Given the description of an element on the screen output the (x, y) to click on. 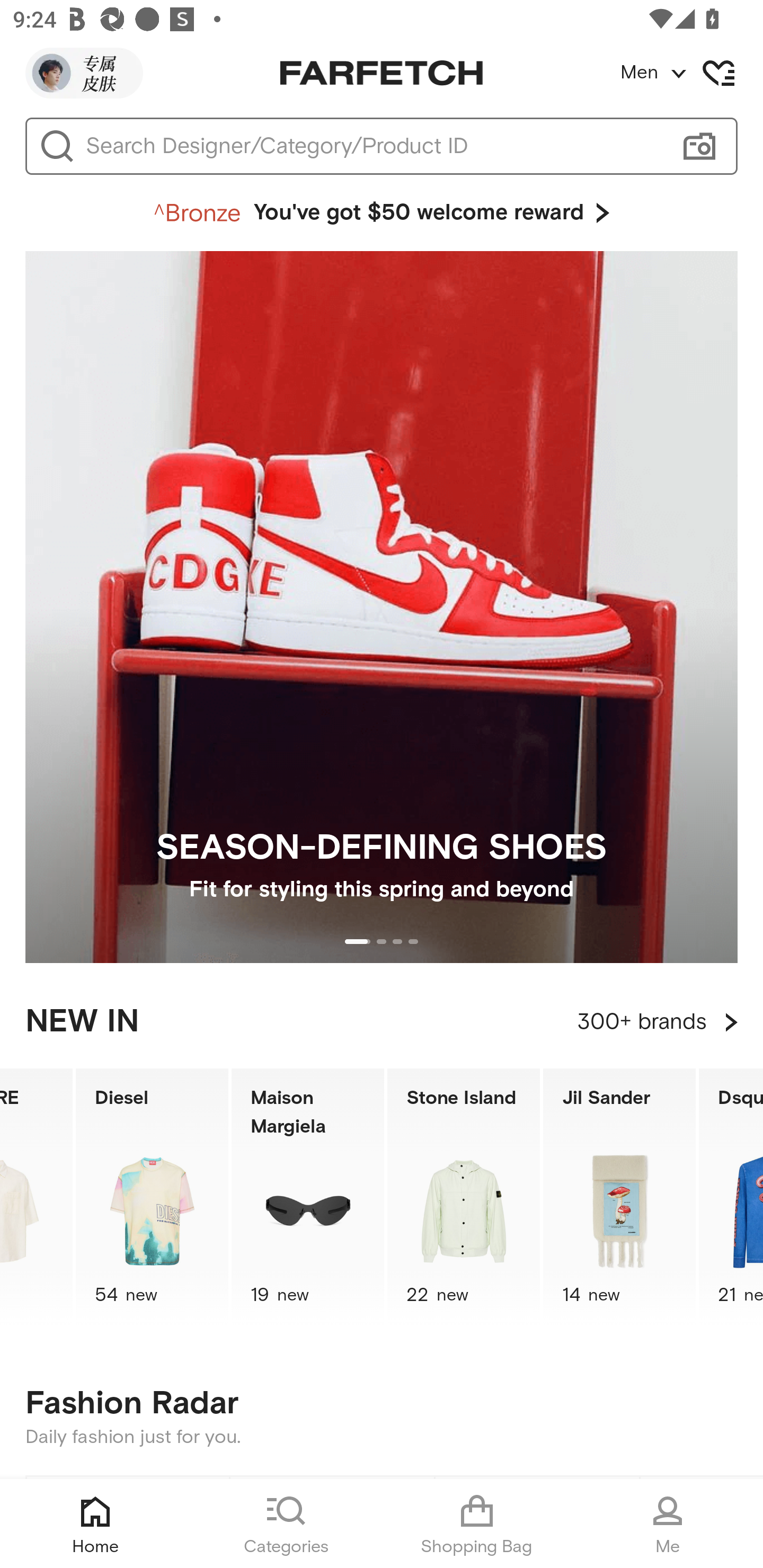
Men (691, 72)
Search Designer/Category/Product ID (373, 146)
You've got $50 welcome reward (381, 213)
NEW IN 300+ brands (381, 1021)
Diesel 54  new (151, 1196)
Maison Margiela 19  new (307, 1196)
Stone Island 22  new (463, 1196)
Jil Sander 14  new (619, 1196)
Categories (285, 1523)
Shopping Bag (476, 1523)
Me (667, 1523)
